Given the description of an element on the screen output the (x, y) to click on. 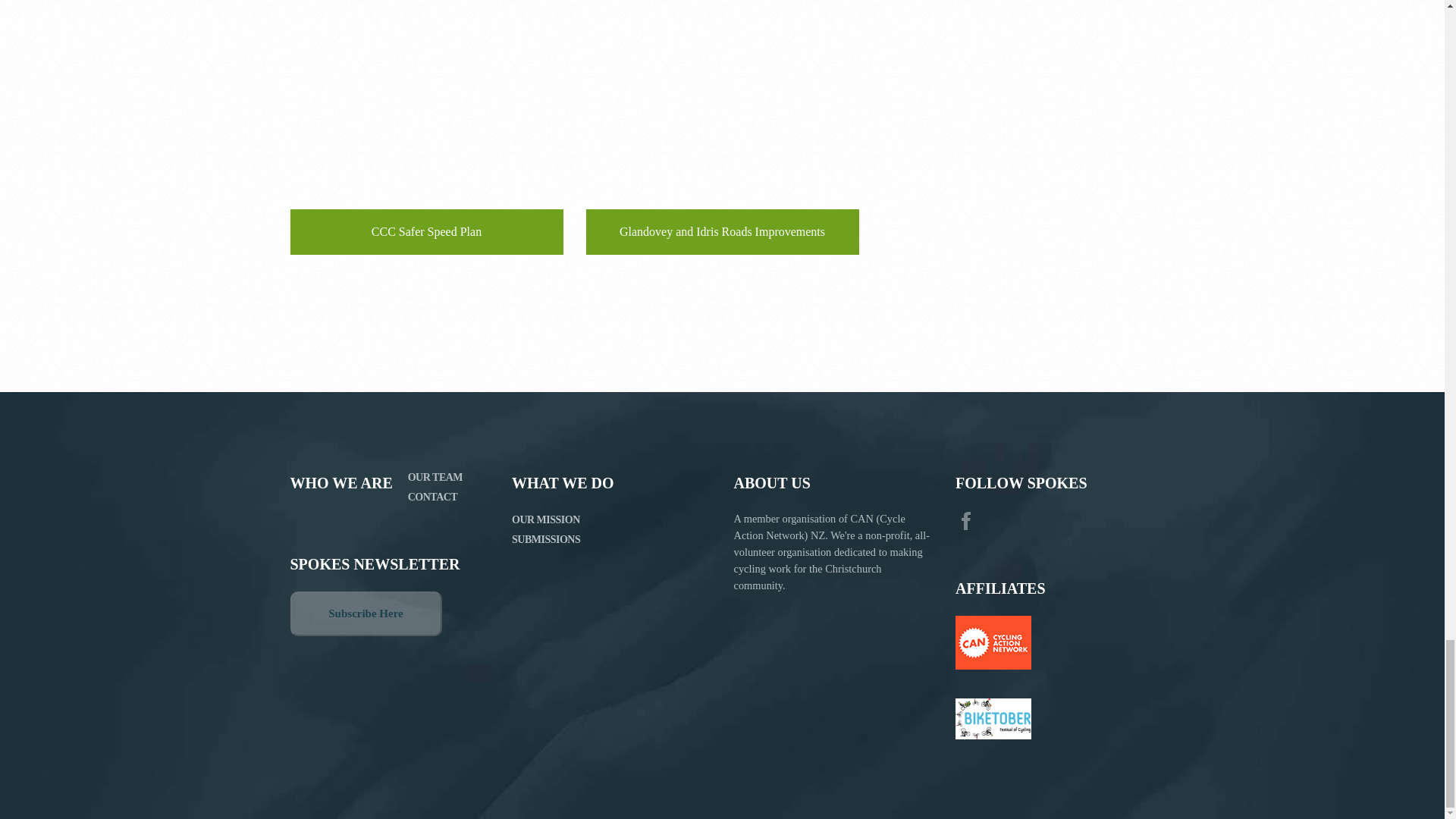
Glandovey and Idris Roads Improvements (722, 127)
Subscribe Here (365, 613)
CCC Safer Speed Plan (425, 127)
